Given the description of an element on the screen output the (x, y) to click on. 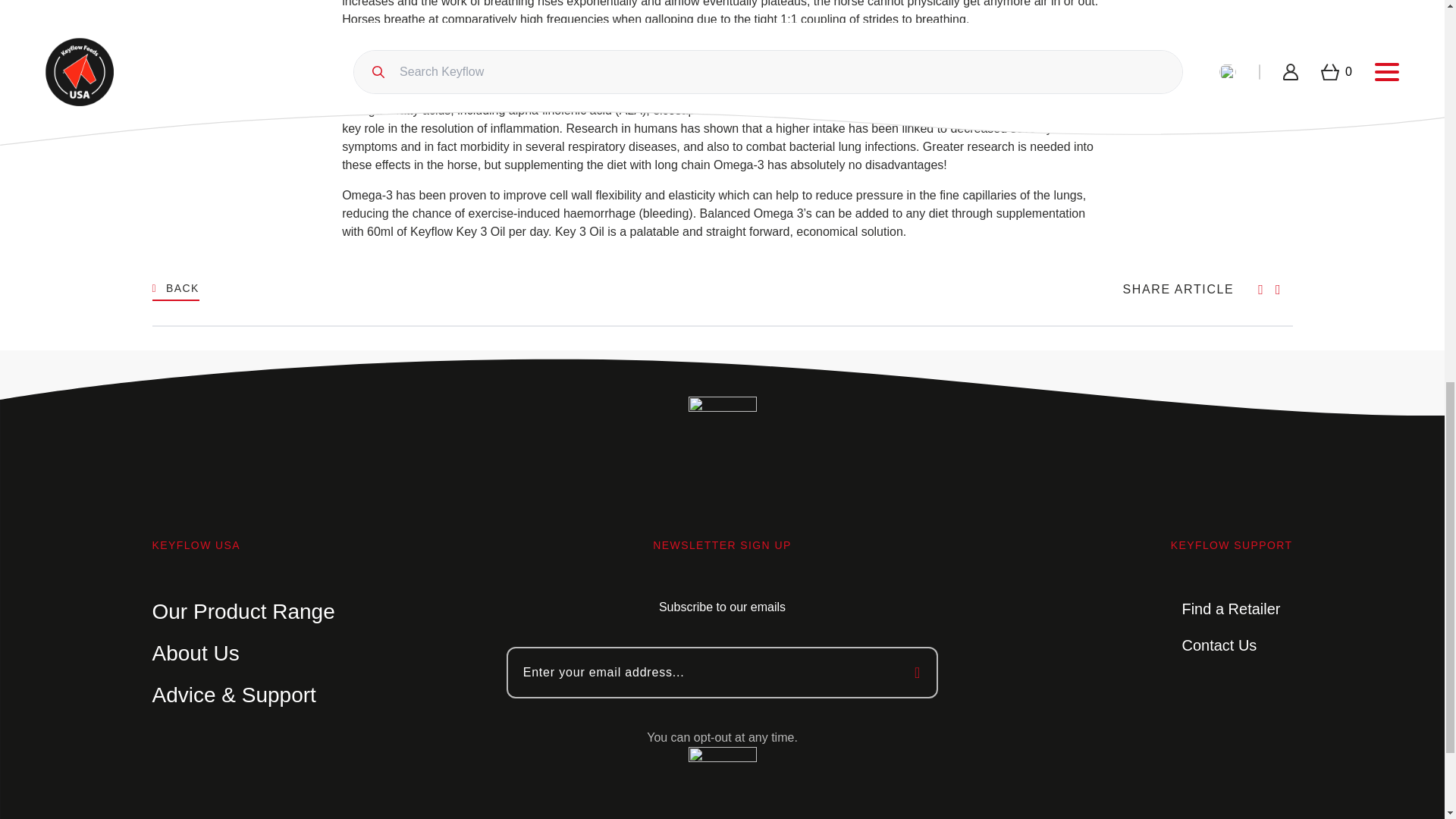
BACK (174, 289)
Find a Retailer (1229, 608)
Contact Us (1218, 645)
About Us (194, 652)
Our Product Range (242, 611)
